Given the description of an element on the screen output the (x, y) to click on. 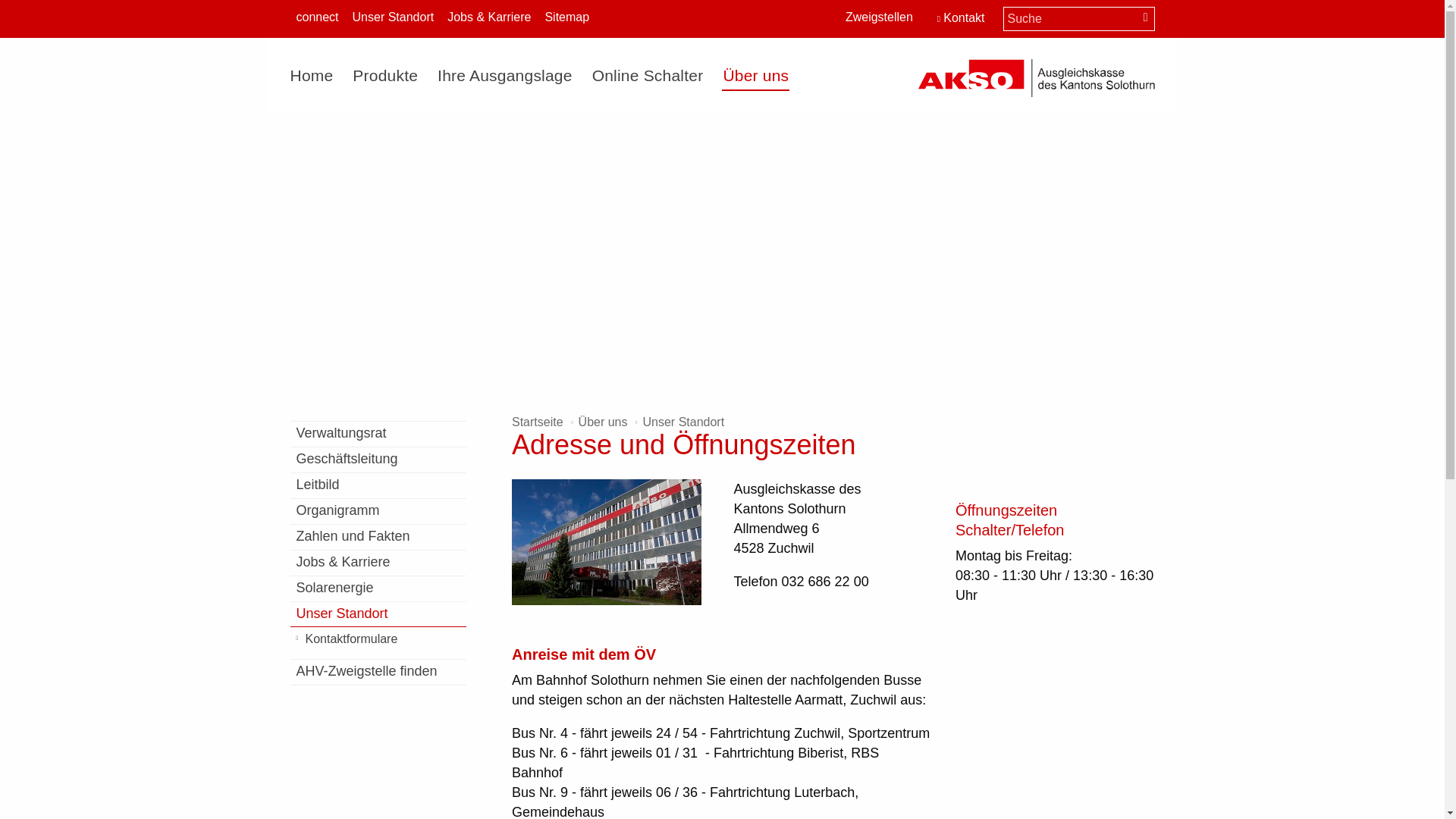
Solarenergie Element type: text (377, 588)
Home Element type: text (315, 75)
Zweigstellen Element type: text (879, 18)
Jobs & Karriere Element type: text (377, 562)
Sitemap Element type: text (566, 18)
Unser Standort Element type: text (377, 614)
Jobs & Karriere Element type: text (488, 18)
Zahlen und Fakten Element type: text (377, 536)
AHV-Zweigstelle finden Element type: text (377, 671)
Online Schalter Element type: text (647, 75)
Ihre Ausgangslage Element type: text (504, 75)
Kontaktformulare Element type: text (377, 639)
Verwaltungsrat Element type: text (377, 433)
Unser Standort Element type: text (393, 18)
connect Element type: text (316, 18)
Produkte Element type: text (384, 75)
Leitbild Element type: text (377, 485)
Kontakt Element type: text (961, 19)
Organigramm Element type: text (377, 511)
Startseite Element type: text (537, 421)
